Given the description of an element on the screen output the (x, y) to click on. 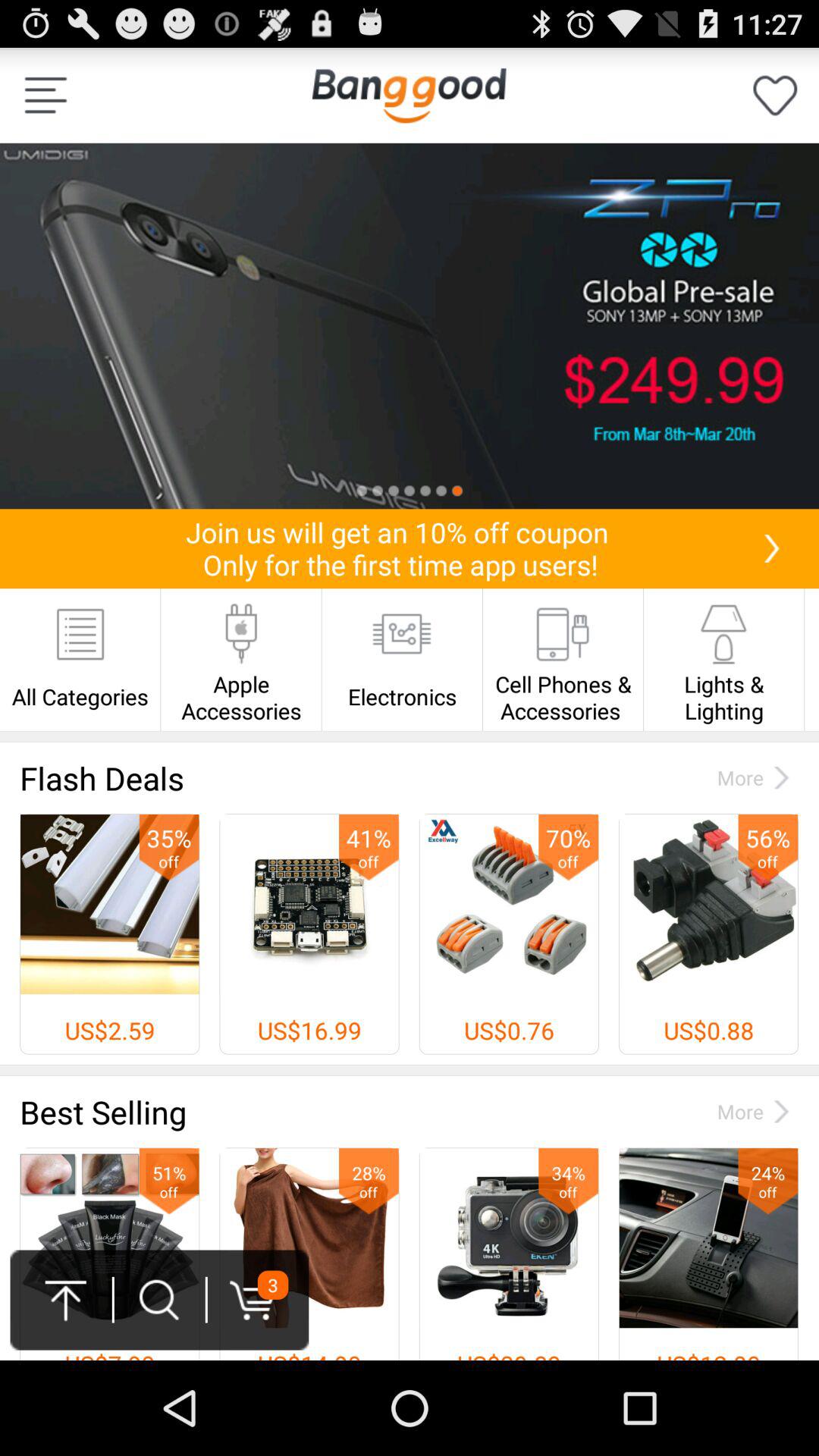
press icon at the top left corner (45, 95)
